Given the description of an element on the screen output the (x, y) to click on. 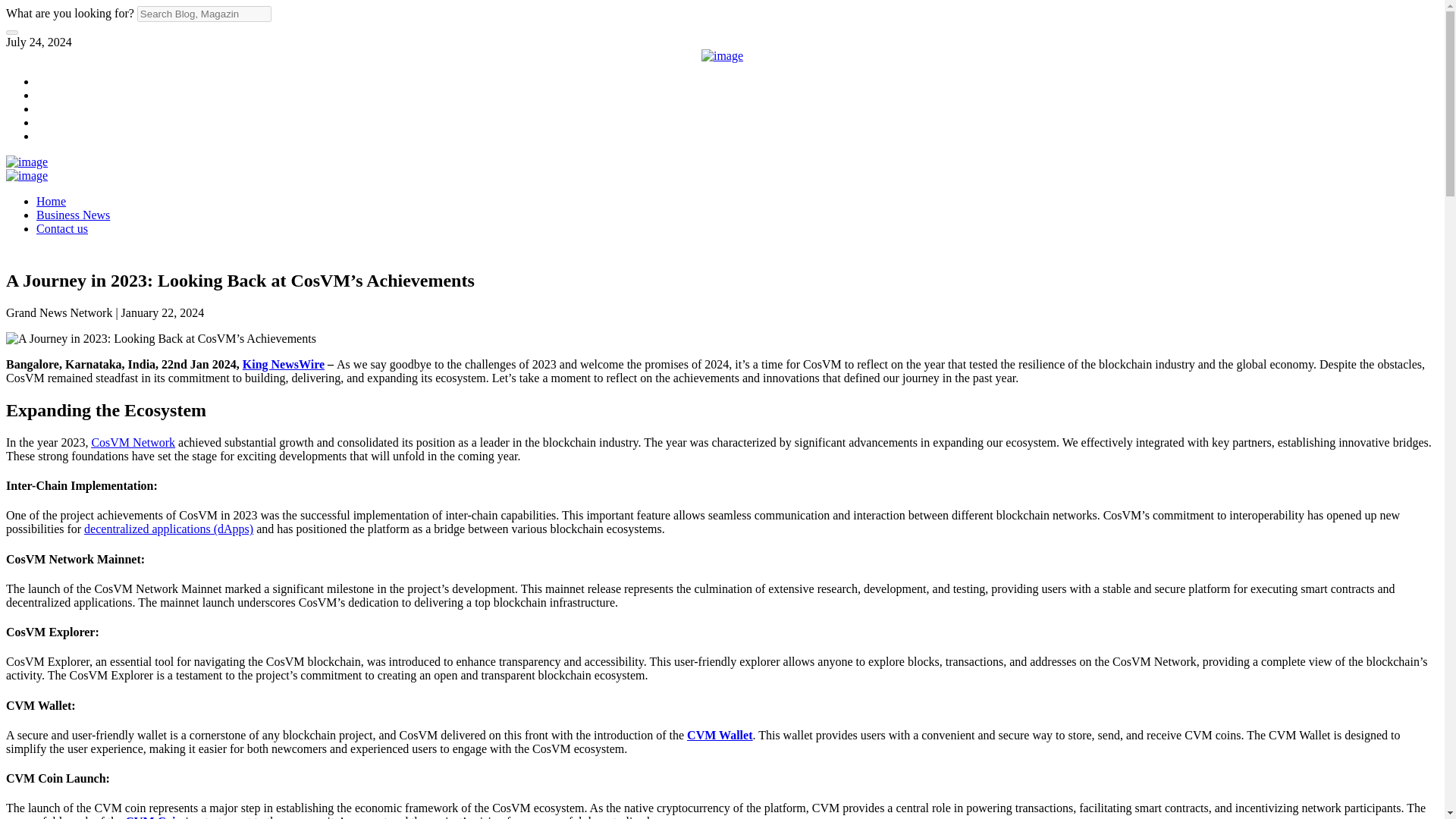
King NewsWire (283, 364)
CosVM Network (132, 441)
Home (50, 201)
CVM Coin (153, 816)
Contact us (61, 228)
CVM Wallet (719, 735)
Business News (73, 214)
